Given the description of an element on the screen output the (x, y) to click on. 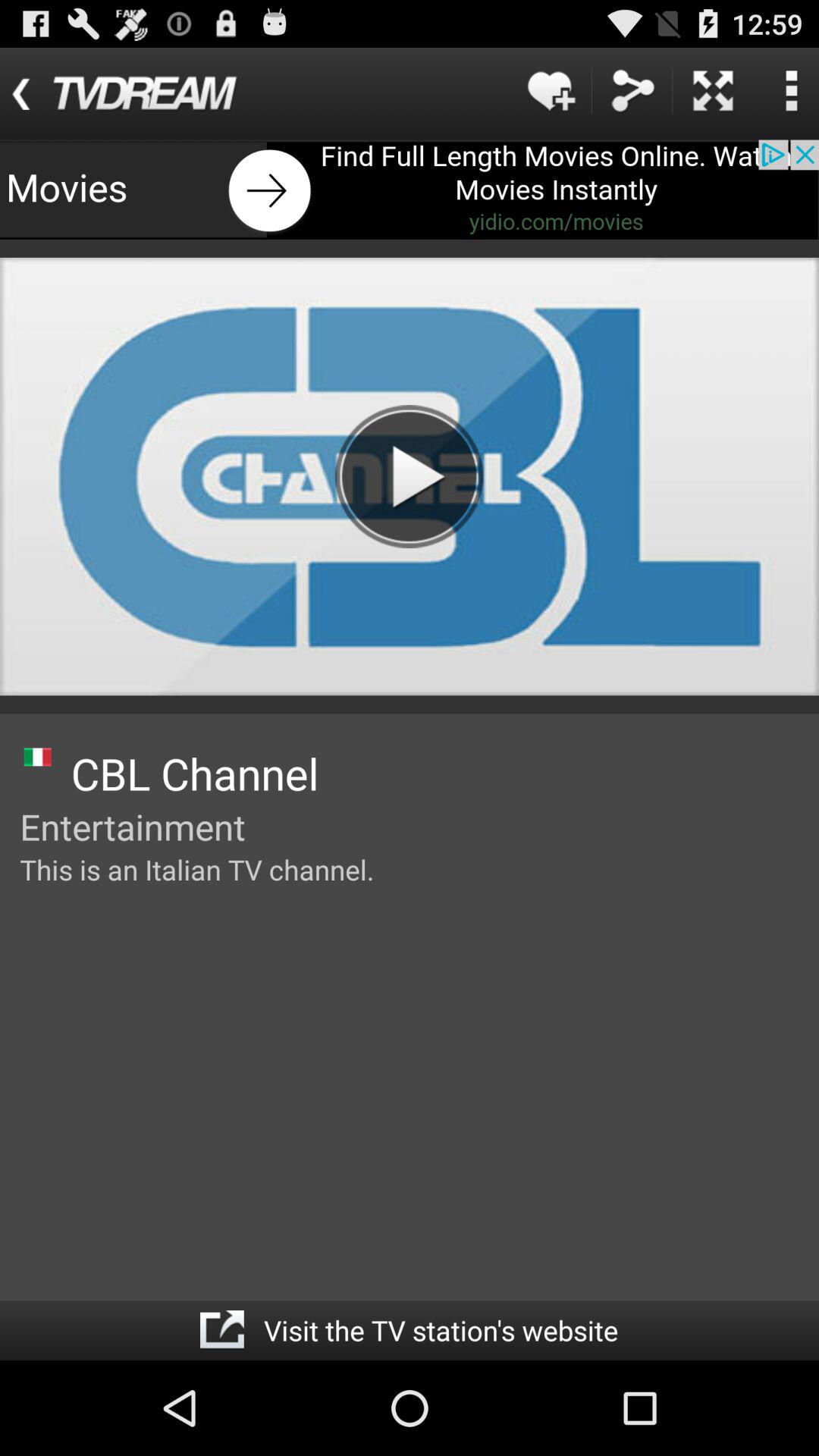
share this page (632, 90)
